Given the description of an element on the screen output the (x, y) to click on. 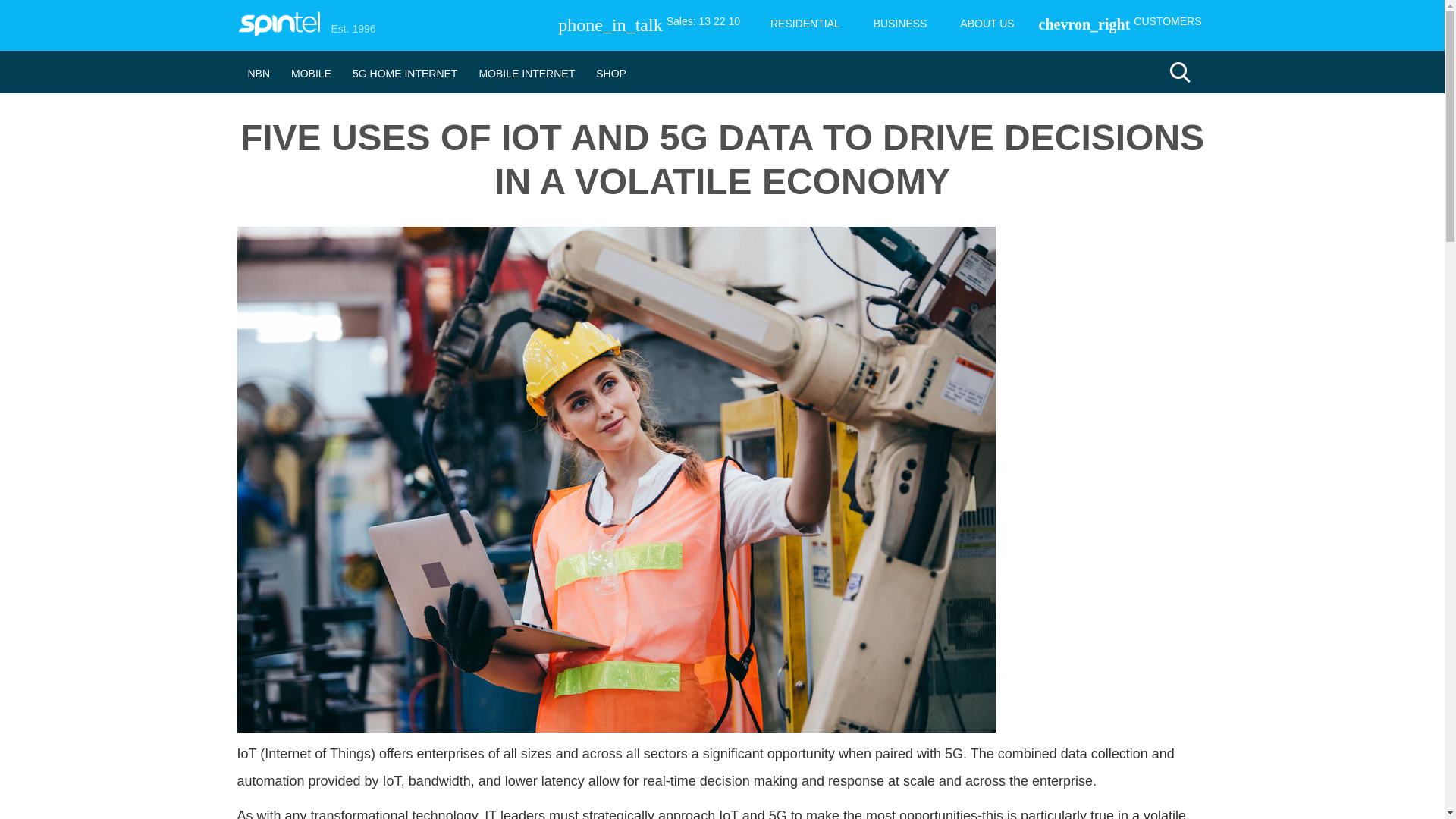
ABOUT US (986, 22)
RESIDENTIAL (805, 22)
BUSINESS (900, 22)
